Given the description of an element on the screen output the (x, y) to click on. 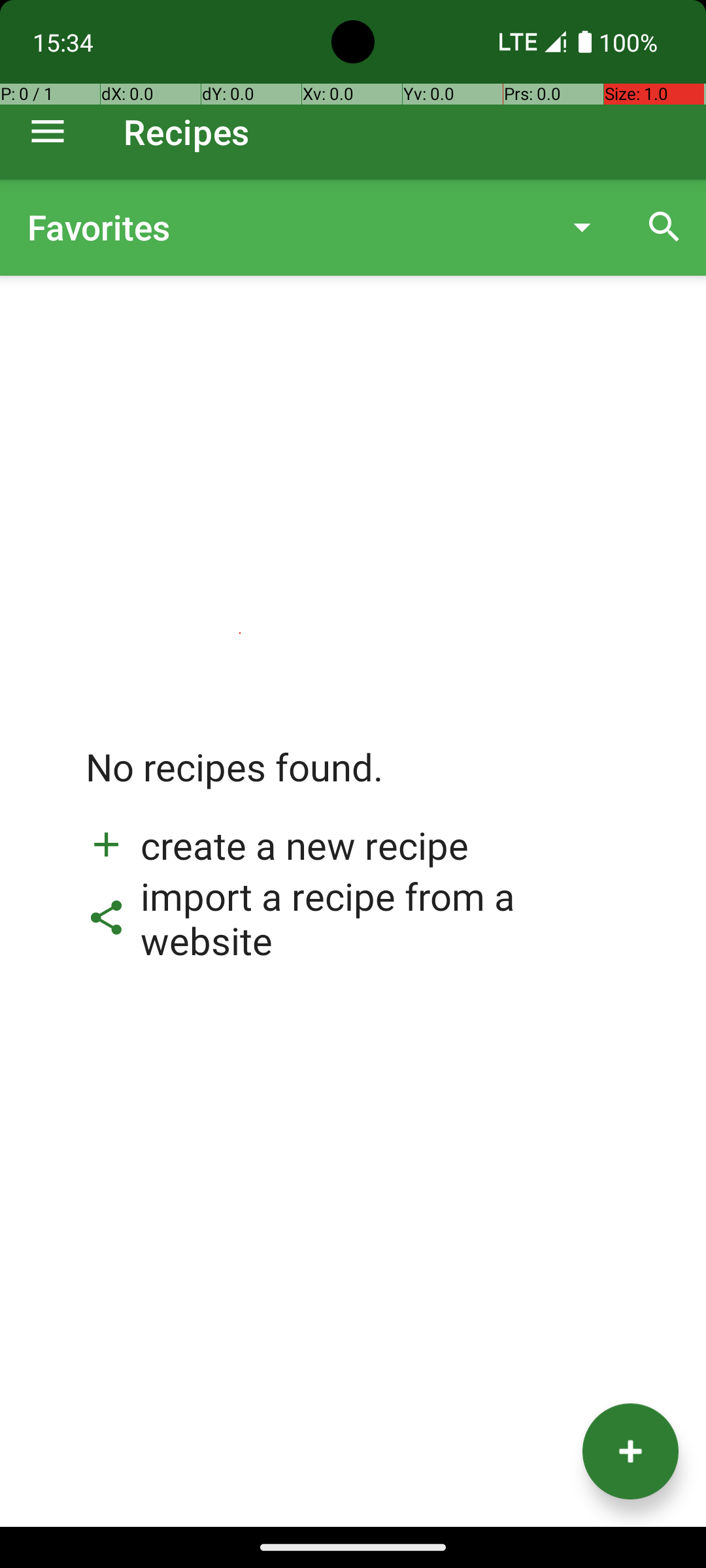
No recipes found. Element type: android.widget.TextView (234, 779)
create a new recipe Element type: android.widget.TextView (276, 844)
import a recipe from a website Element type: android.widget.TextView (352, 917)
